Given the description of an element on the screen output the (x, y) to click on. 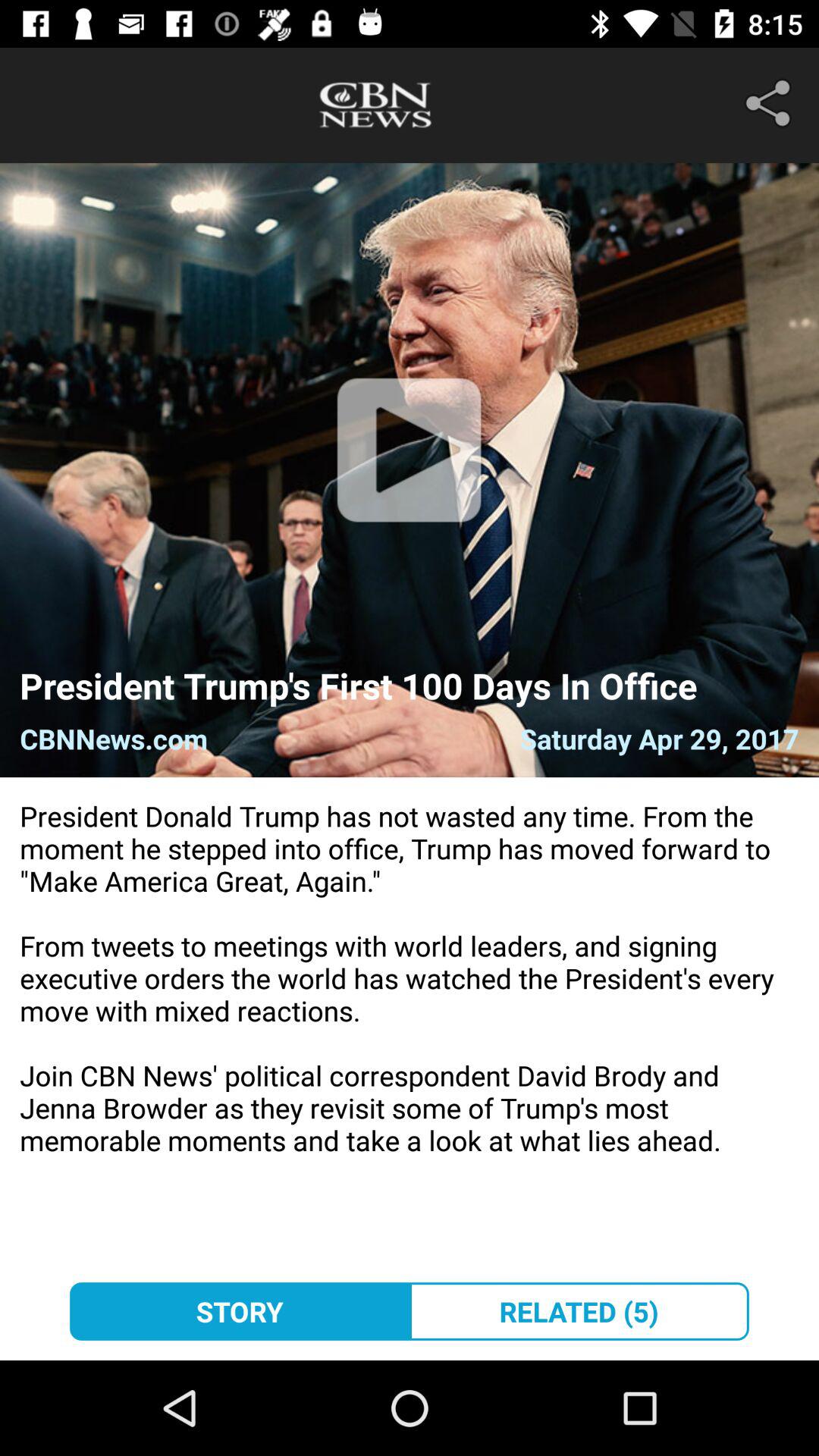
open the story (239, 1311)
